Given the description of an element on the screen output the (x, y) to click on. 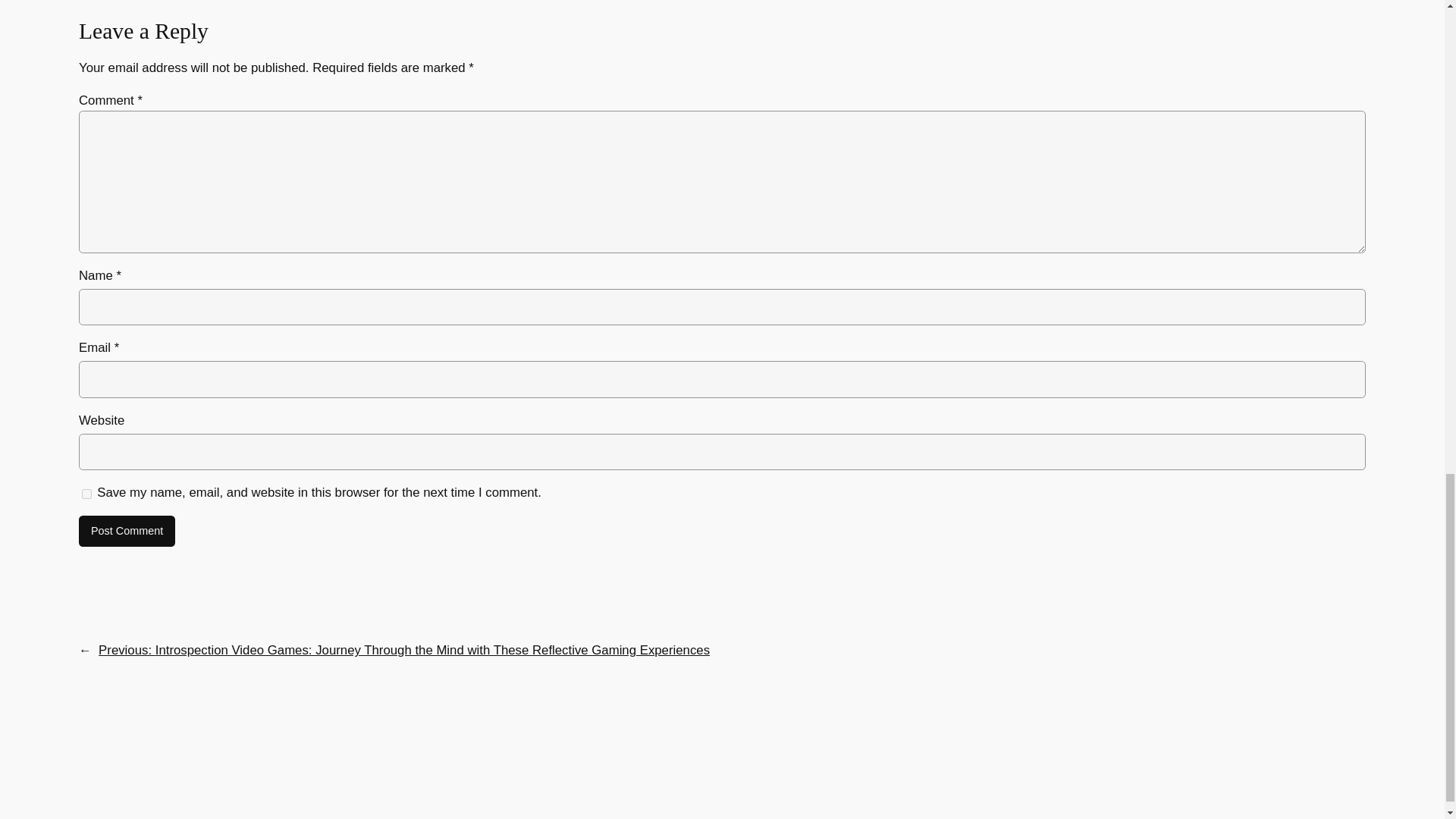
Post Comment (126, 531)
Post Comment (126, 531)
